Given the description of an element on the screen output the (x, y) to click on. 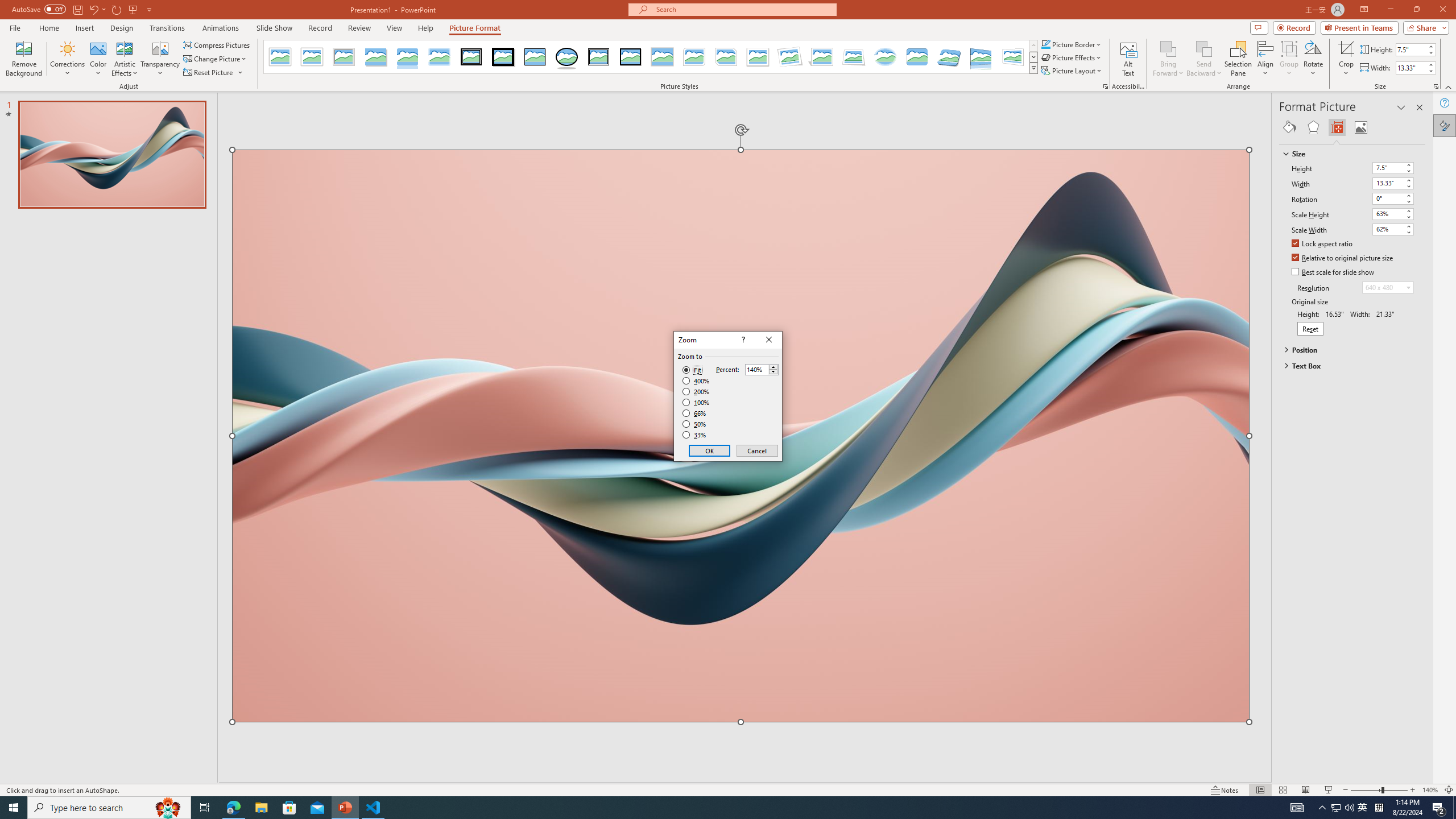
Scale Height (1393, 214)
Scale Height (1388, 213)
Class: NetUIScrollBar (1420, 460)
Fill & Line (1288, 126)
Context help (742, 339)
33% (694, 434)
Bevel Rectangle (917, 56)
Scale Width (1388, 229)
Bevel Perspective (949, 56)
Picture Layout (1072, 69)
